Given the description of an element on the screen output the (x, y) to click on. 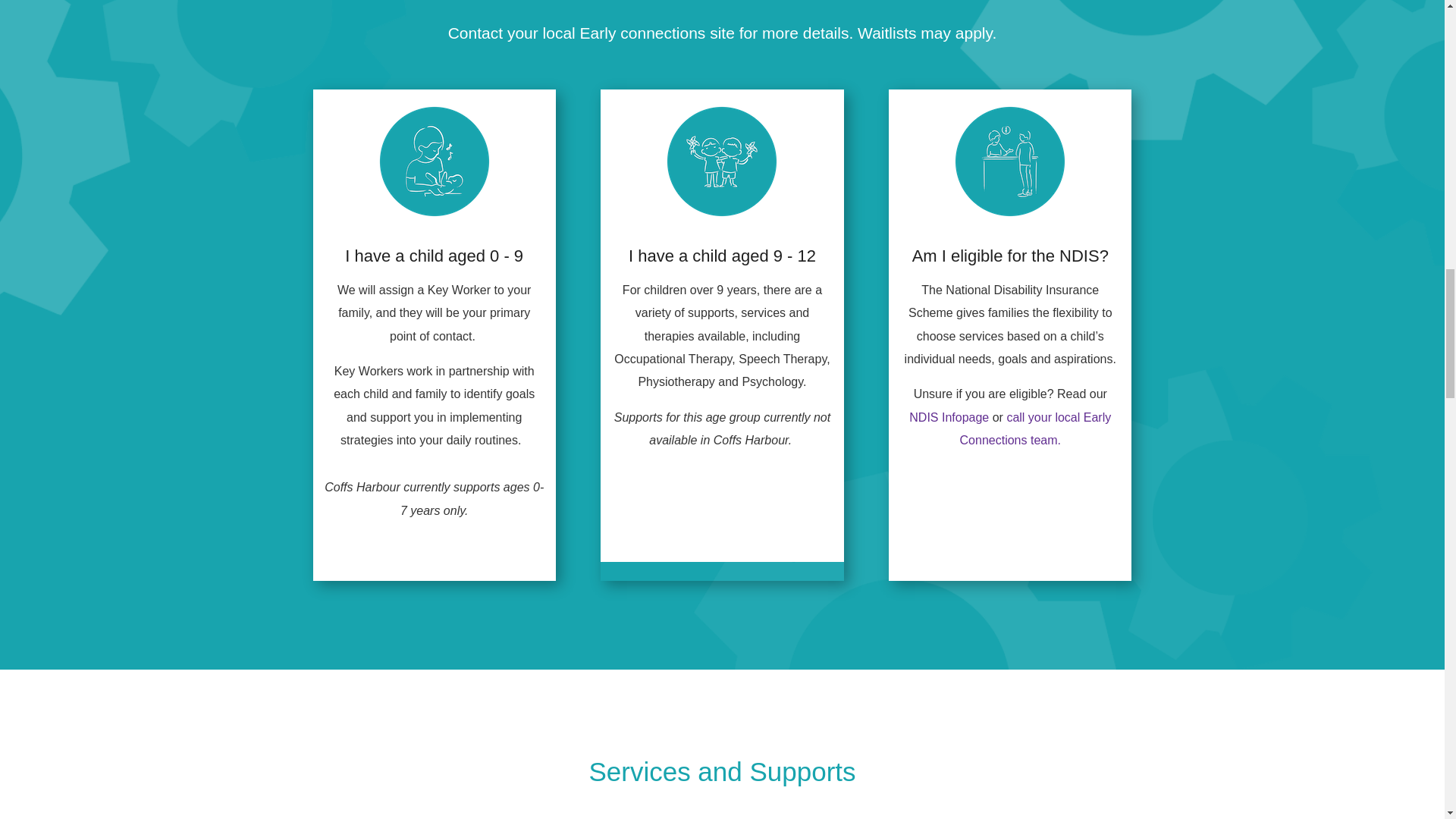
NDIS Infopage (948, 417)
call your local Early Connections team. (1035, 428)
Am I eligible for the NDIS? (1010, 255)
I have a child aged 9 - 12 (721, 255)
I have a child aged 0 - 9 (433, 255)
